Given the description of an element on the screen output the (x, y) to click on. 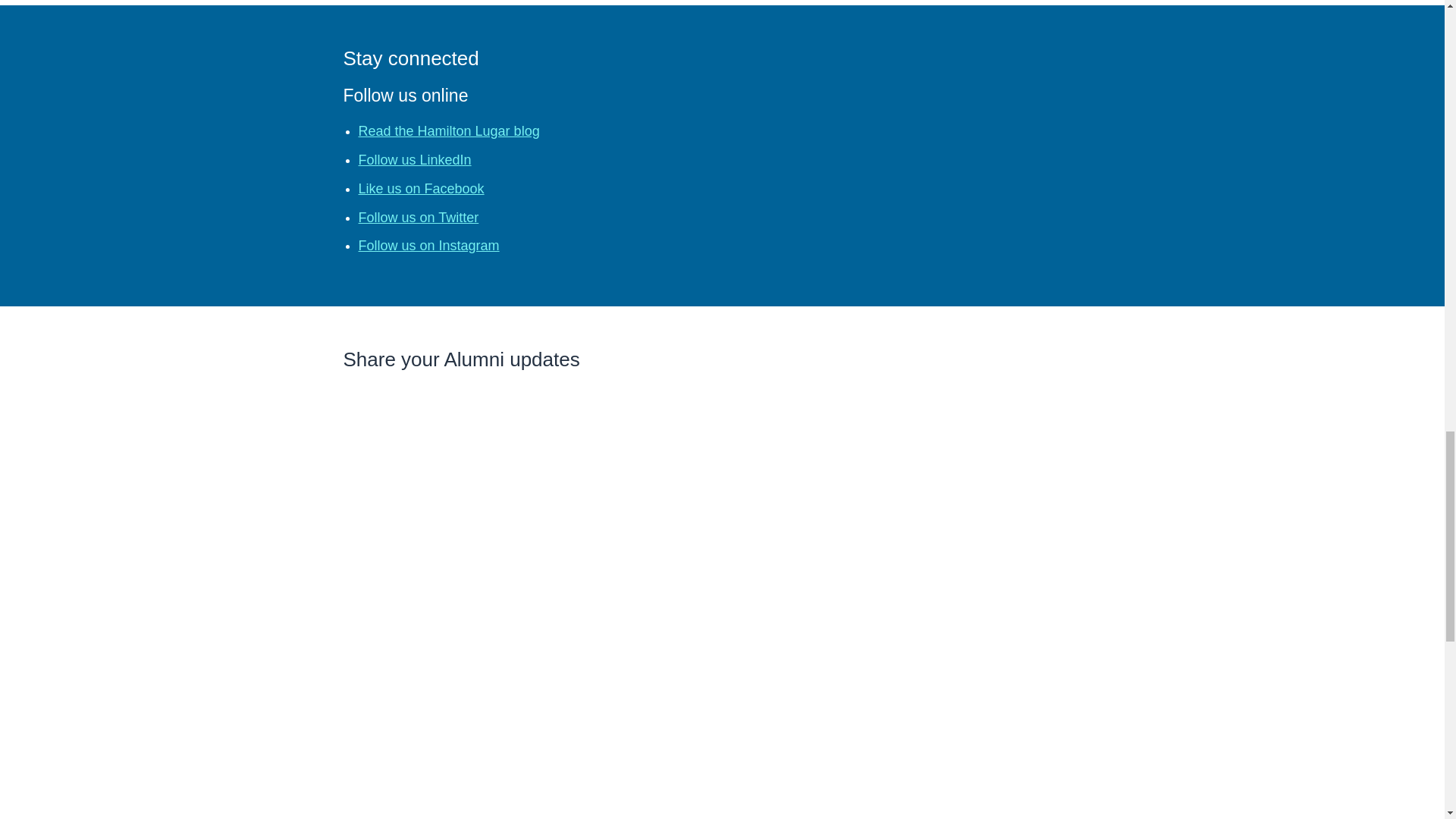
Like us on Facebook (420, 188)
